Given the description of an element on the screen output the (x, y) to click on. 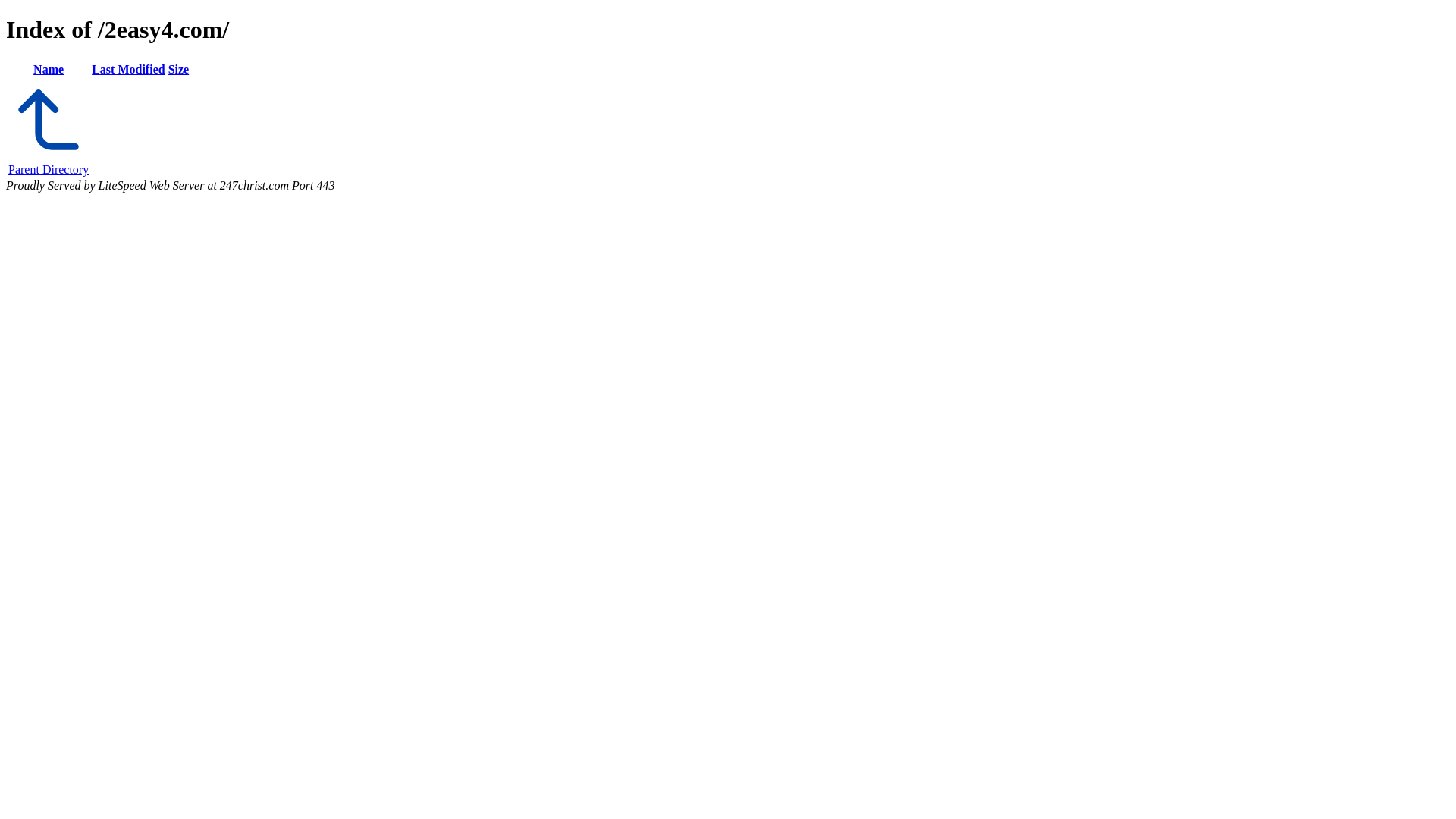
Name Element type: text (48, 68)
Last Modified Element type: text (127, 68)
Parent Directory Element type: text (48, 162)
Size Element type: text (178, 68)
